Given the description of an element on the screen output the (x, y) to click on. 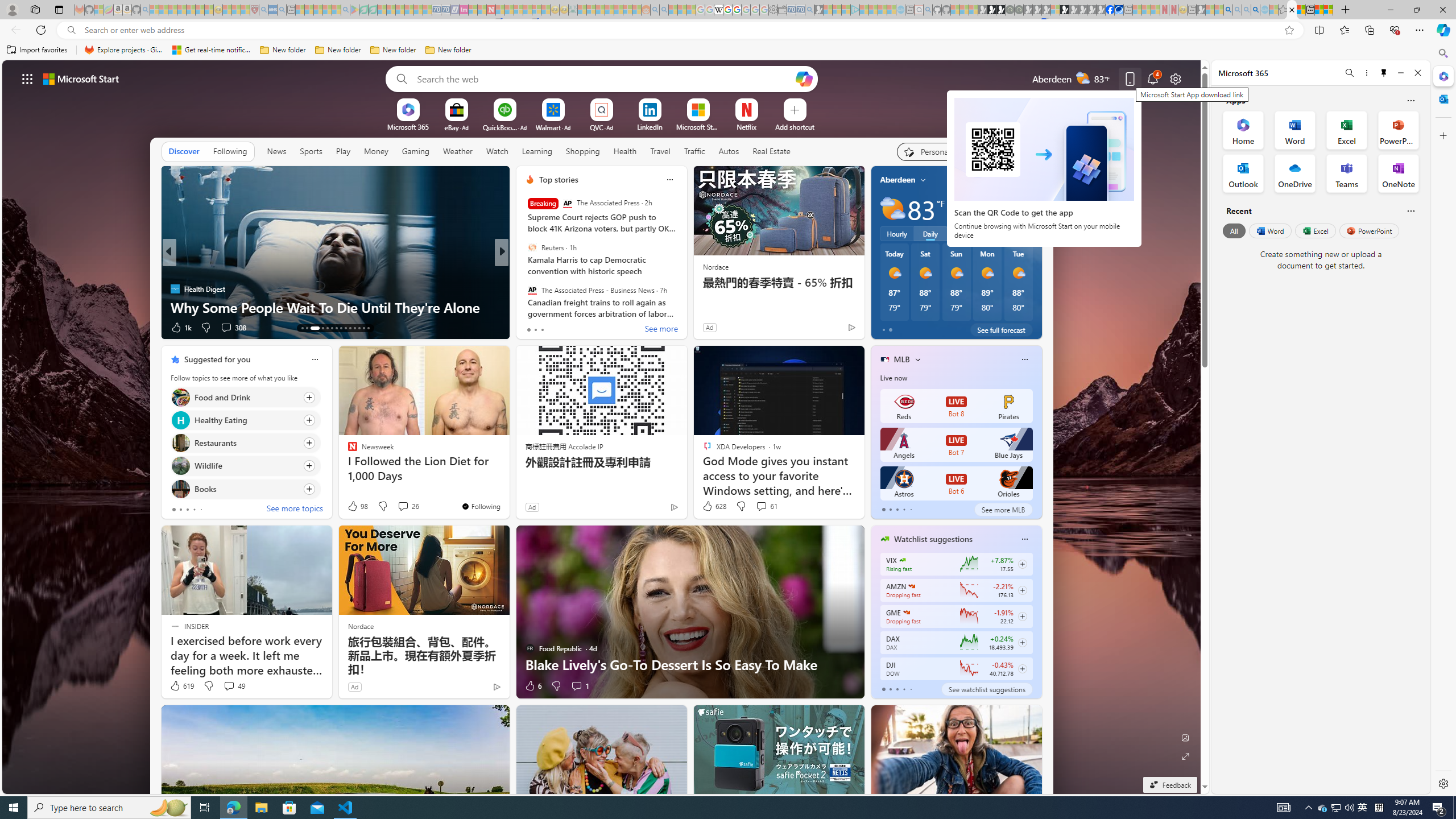
Google Chrome Internet Browser Download - Search Images (1255, 9)
View comments 49 Comment (228, 685)
AutomationID: backgroundImagePicture (601, 426)
View comments 308 Comment (225, 327)
Click to follow topic Wildlife (245, 465)
View comments 26 Comment (403, 505)
